Given the description of an element on the screen output the (x, y) to click on. 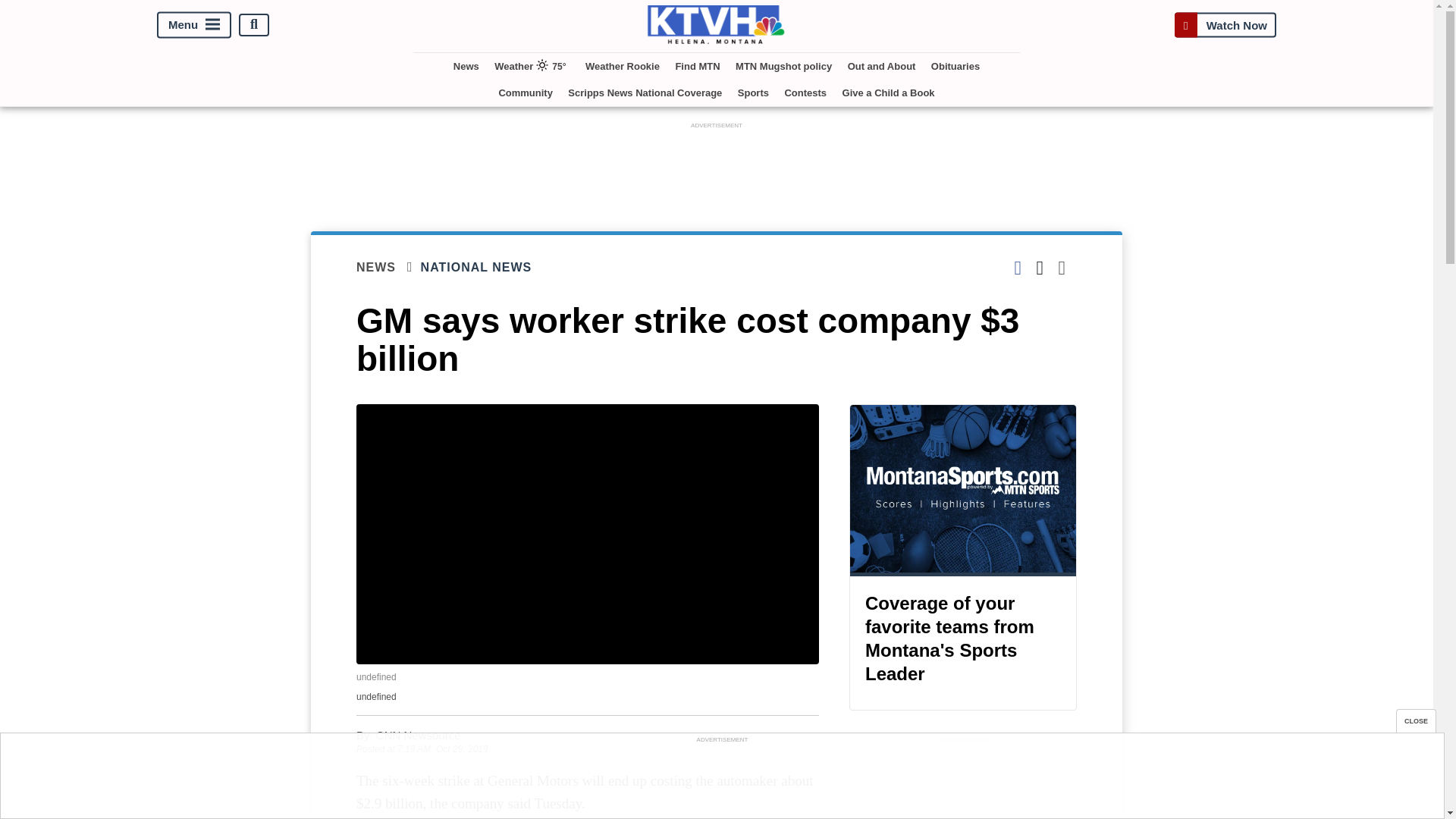
Watch Now (1224, 24)
Menu (194, 24)
3rd party ad content (716, 166)
3rd party ad content (721, 780)
3rd party ad content (962, 783)
